Given the description of an element on the screen output the (x, y) to click on. 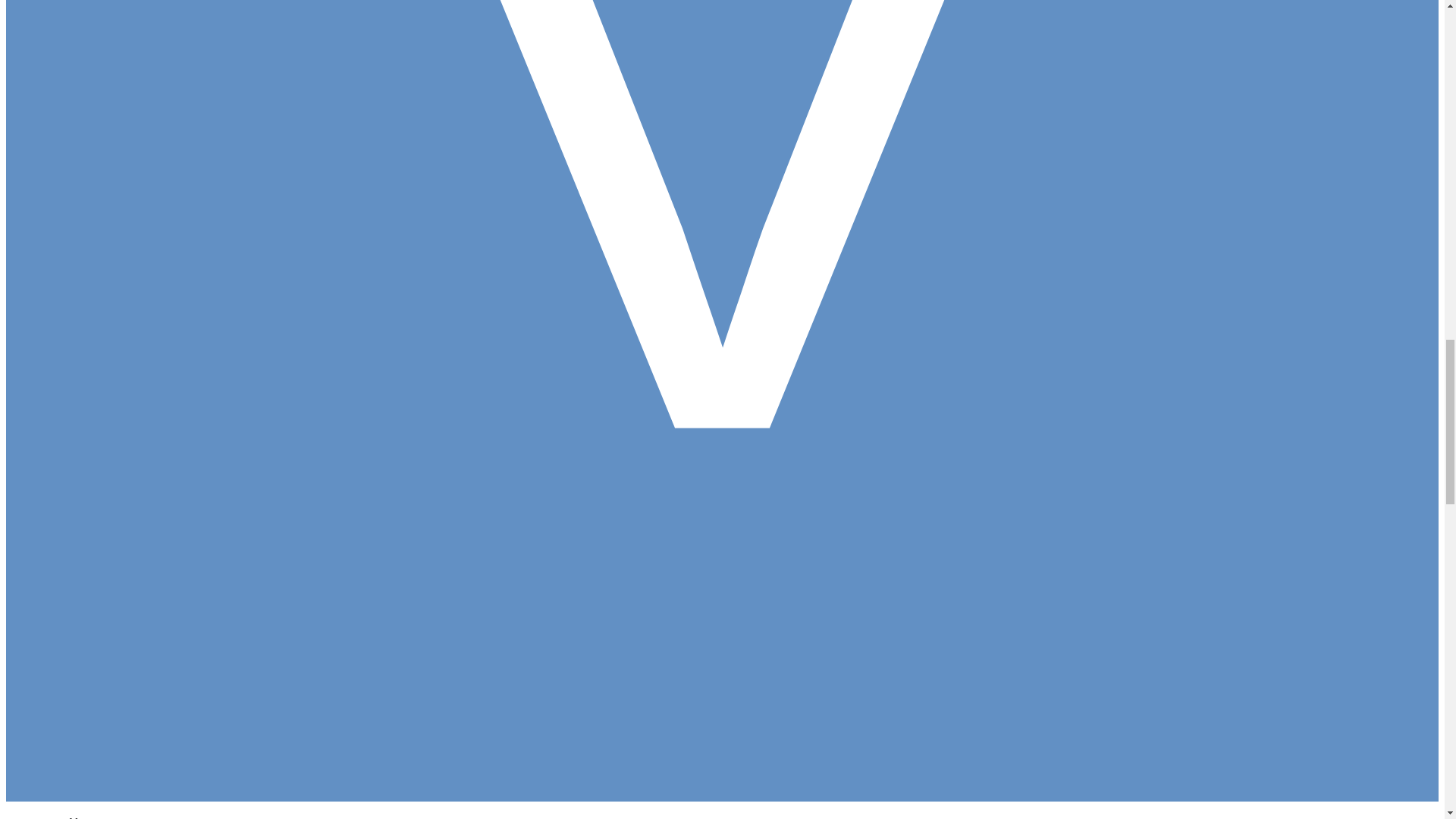
Go to Victoria Jazz Society's profile (141, 817)
